Given the description of an element on the screen output the (x, y) to click on. 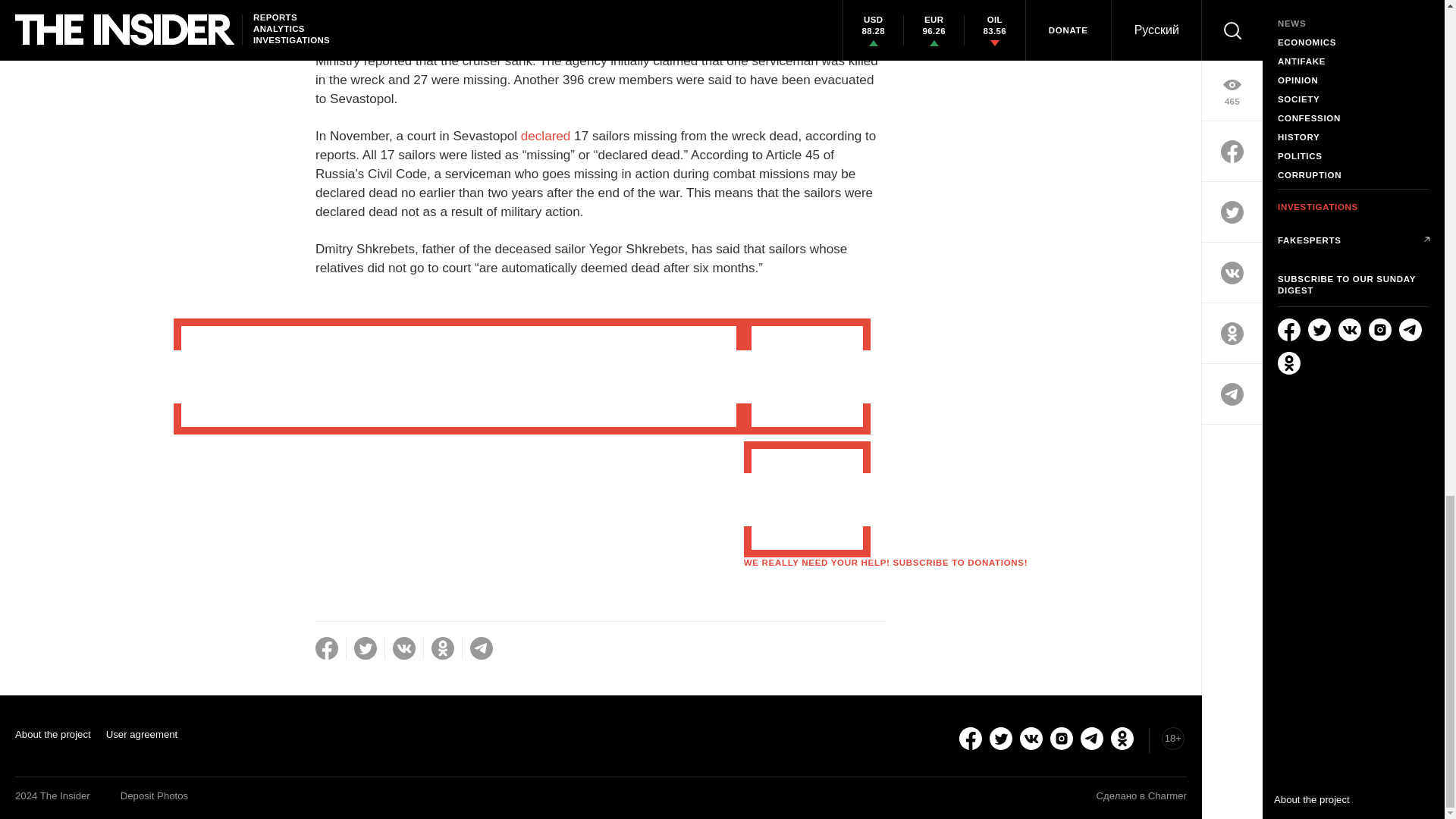
About the project (52, 734)
declared (545, 135)
Deposit Photos (153, 795)
Charmer (1167, 795)
User agreement (141, 734)
WE REALLY NEED YOUR HELP! SUBSCRIBE TO DONATIONS! (885, 562)
